Given the description of an element on the screen output the (x, y) to click on. 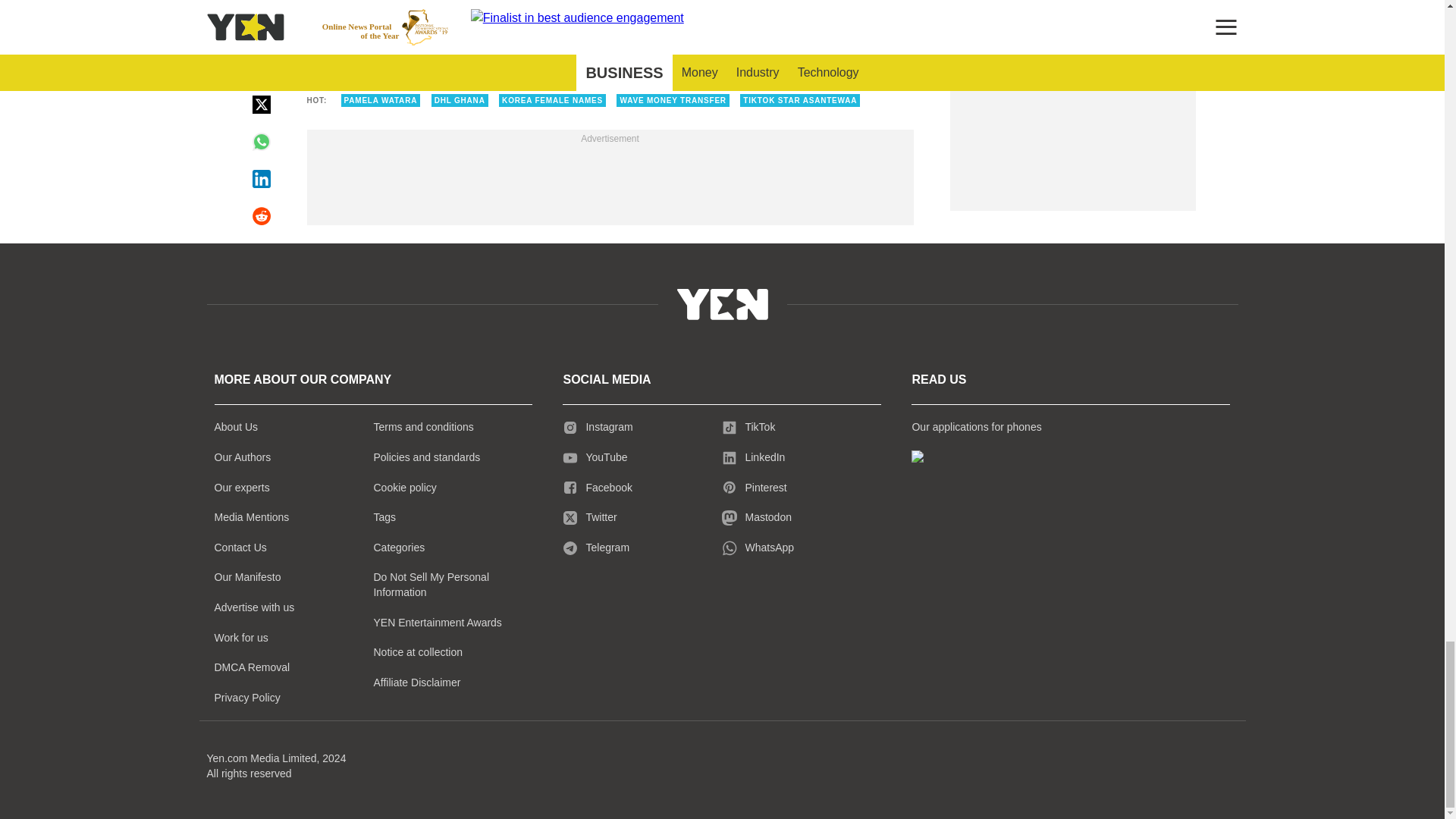
Author page (533, 51)
